Given the description of an element on the screen output the (x, y) to click on. 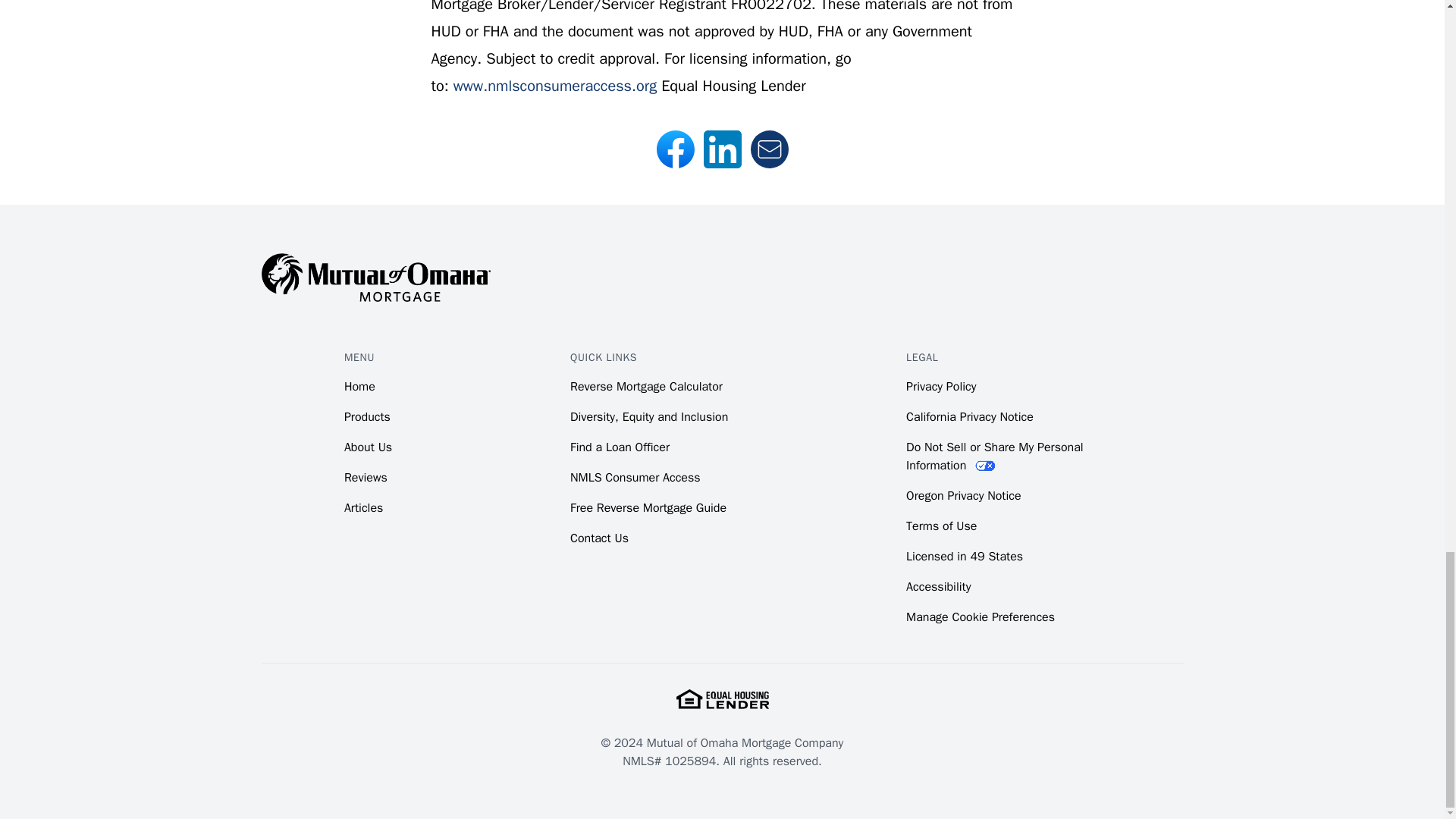
Privacy Policy (940, 386)
Products (366, 417)
Do Not Sell or Share My Personal Information (994, 456)
Home (359, 386)
NMLS Consumer Access (635, 477)
Reviews (365, 477)
Free Reverse Mortgage Guide (648, 507)
About Us (367, 447)
California Privacy Notice (969, 417)
Oregon Privacy Notice (962, 495)
Find a Loan Officer (619, 447)
Diversity, Equity and Inclusion (649, 417)
Articles (362, 507)
Contact Us (599, 538)
www.nmlsconsumeraccess.org (554, 85)
